Given the description of an element on the screen output the (x, y) to click on. 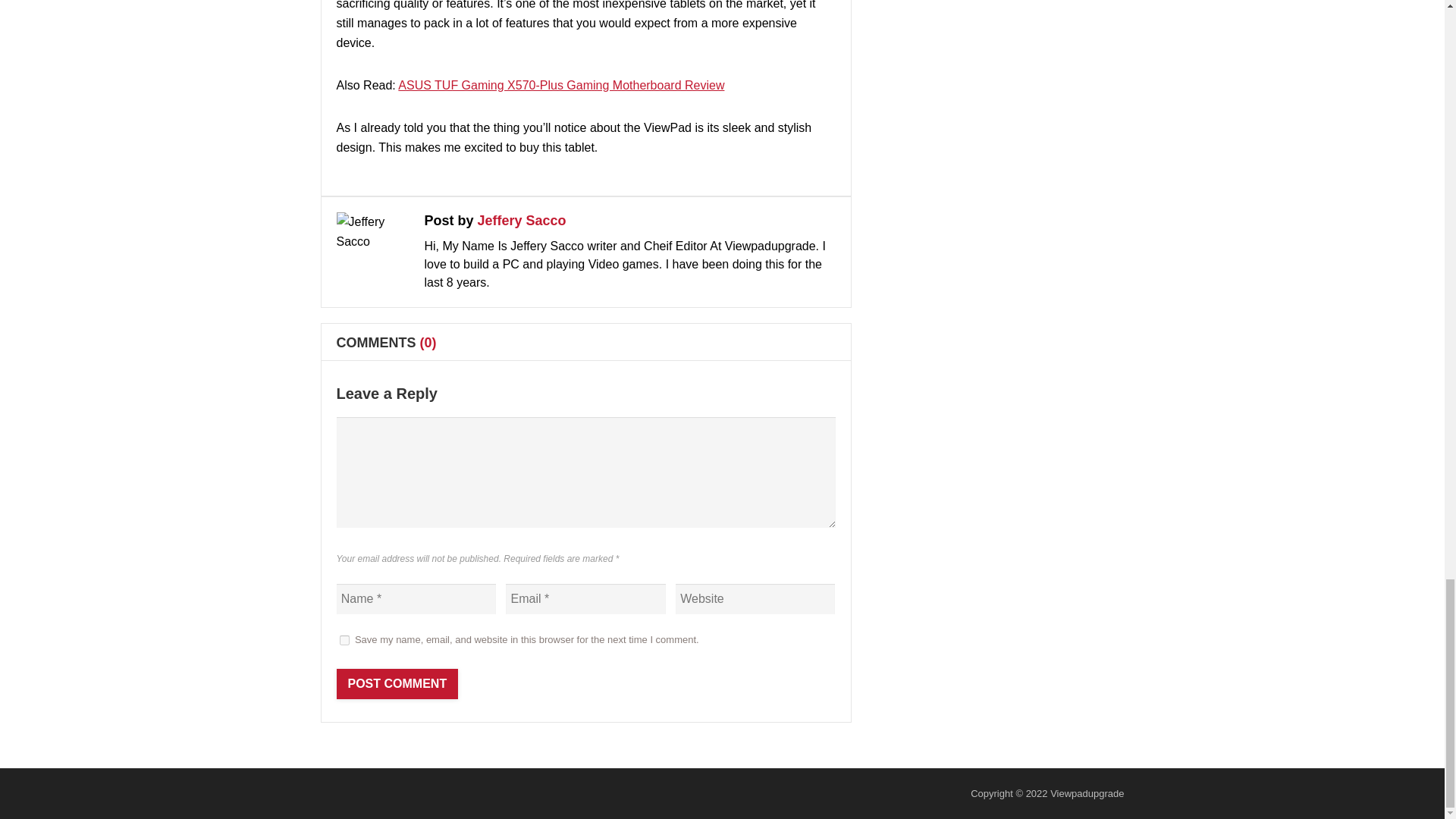
Post Comment (397, 684)
Jeffery Sacco (521, 220)
yes (344, 640)
Post Comment (397, 684)
ASUS TUF Gaming X570-Plus Gaming Motherboard Review (560, 84)
